Given the description of an element on the screen output the (x, y) to click on. 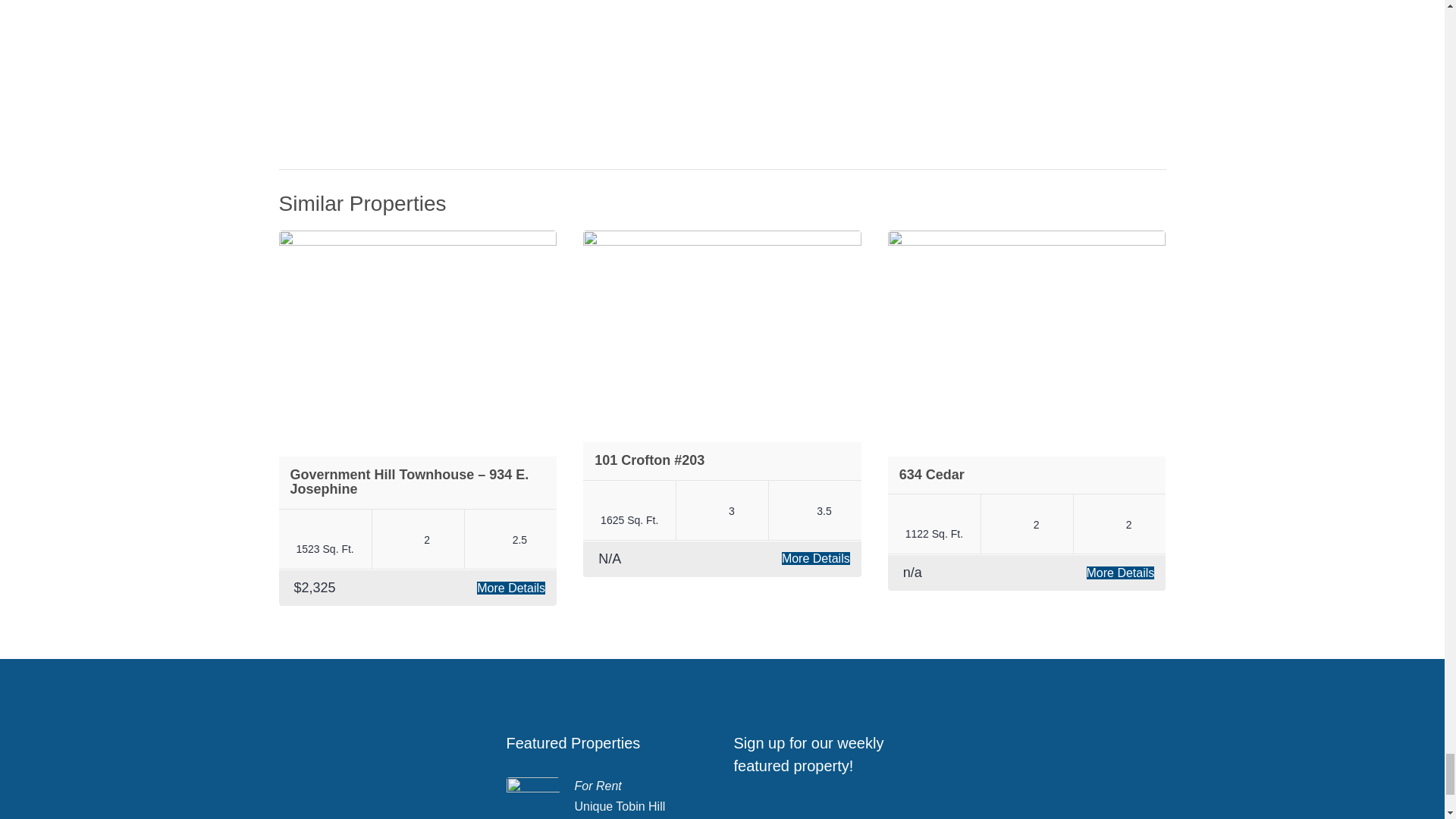
634 Cedar (931, 474)
